Given the description of an element on the screen output the (x, y) to click on. 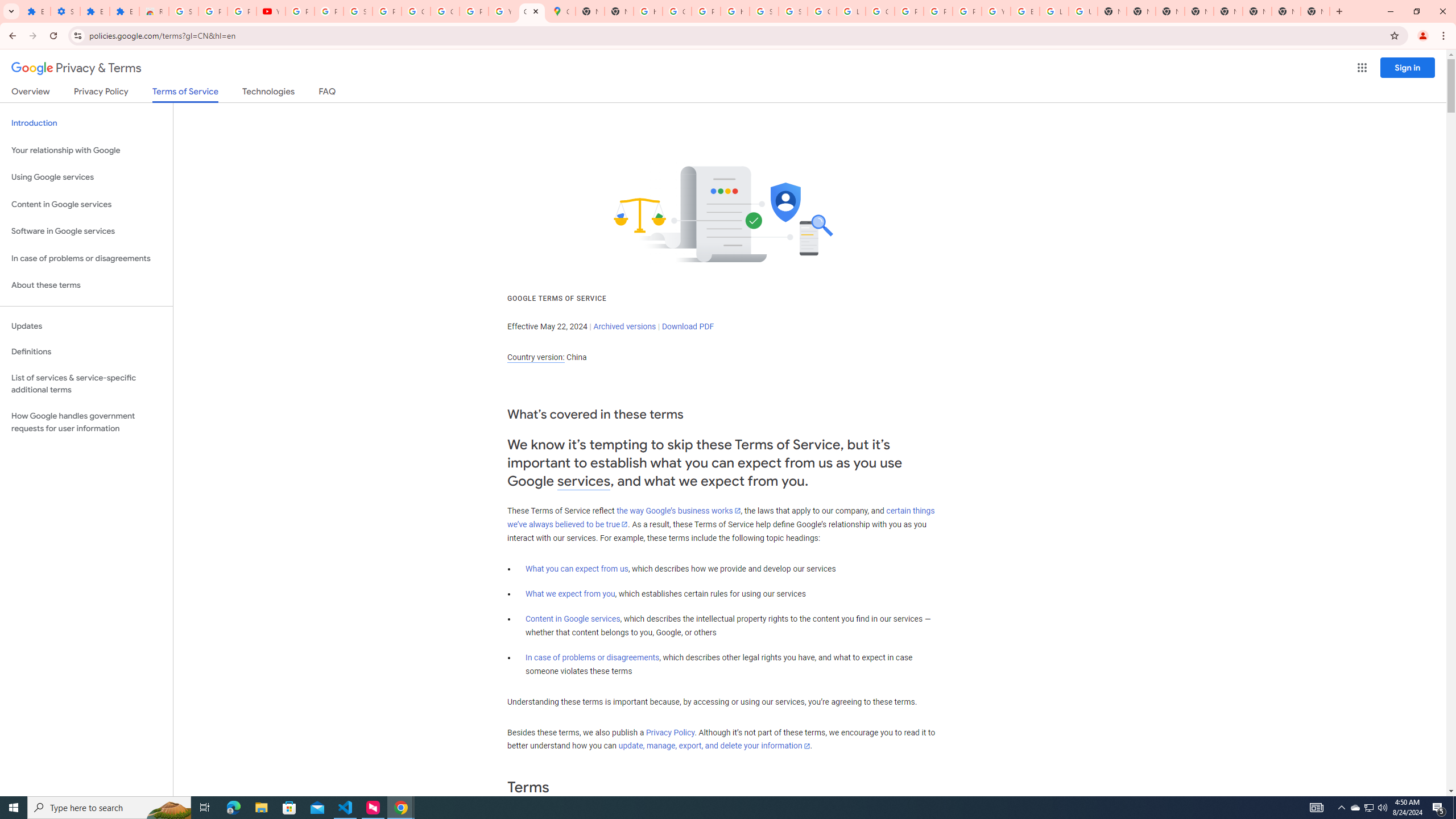
YouTube (996, 11)
services (583, 480)
New Tab (1169, 11)
